Given the description of an element on the screen output the (x, y) to click on. 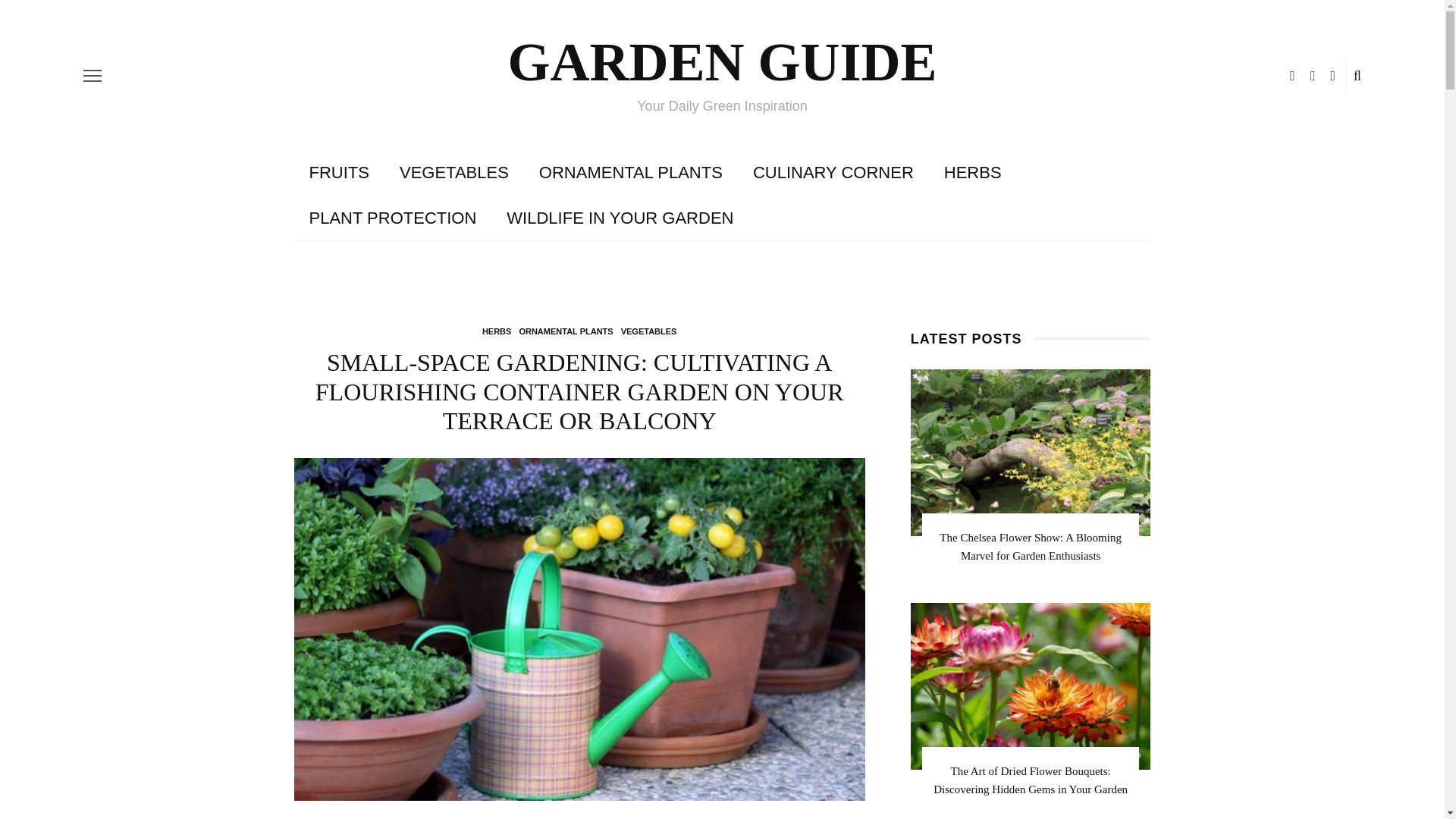
FRUITS (339, 172)
GARDEN GUIDE (721, 61)
off canvas button (91, 75)
CULINARY CORNER (833, 172)
VEGETABLES (454, 172)
HERBS (972, 172)
PLANT PROTECTION (393, 217)
ORNAMENTAL PLANTS (631, 172)
WILDLIFE IN YOUR GARDEN (620, 217)
